Given the description of an element on the screen output the (x, y) to click on. 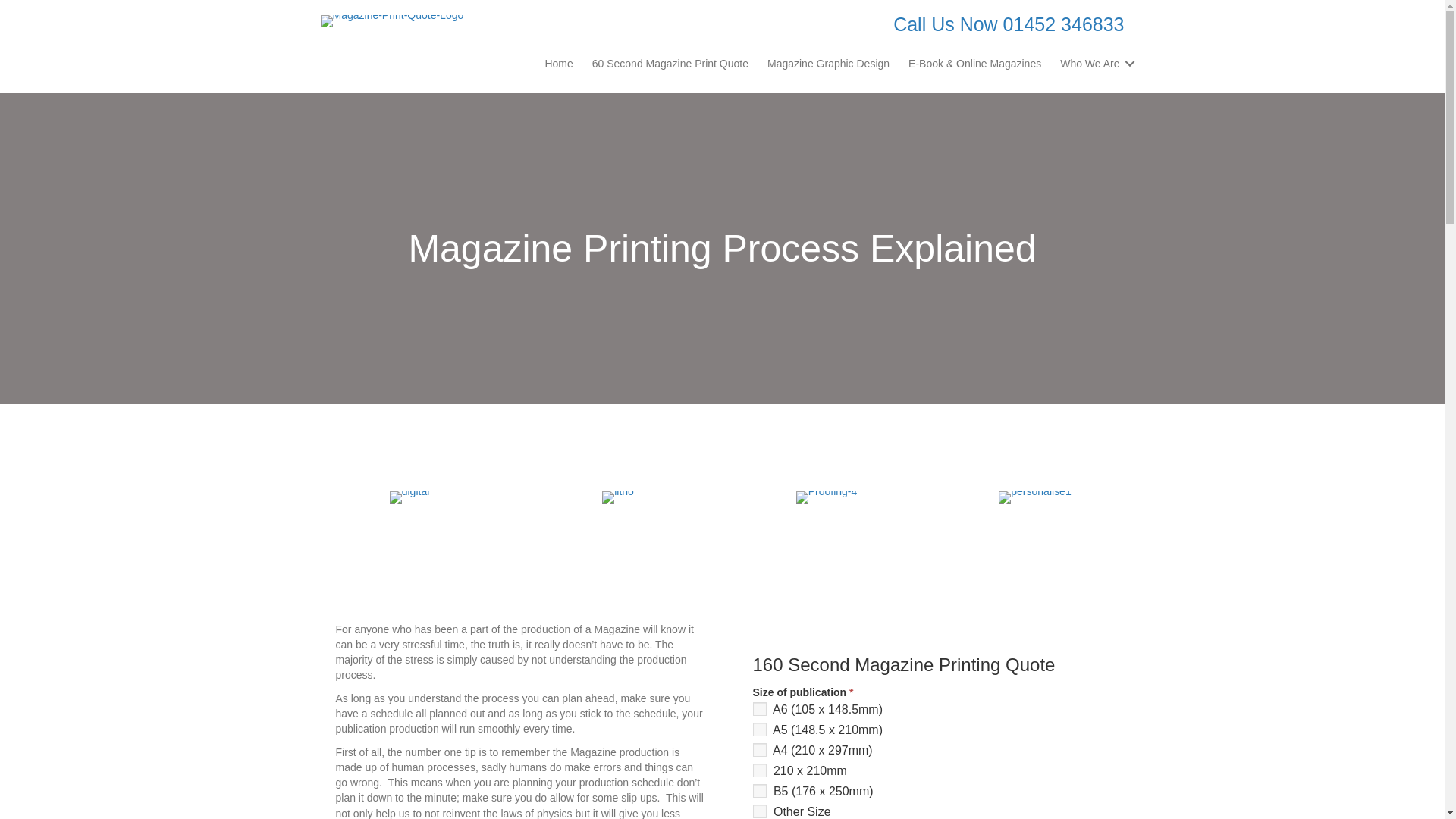
Who We Are (1094, 63)
60 Second Magazine Print Quote (670, 63)
Other Size (758, 811)
Magazine Graphic Design (828, 63)
Magazine-Print-Quote-Logo (391, 21)
litho (617, 497)
Proofing-4 (826, 497)
Home (557, 63)
210 x 210mm (758, 770)
digital (409, 497)
